Given the description of an element on the screen output the (x, y) to click on. 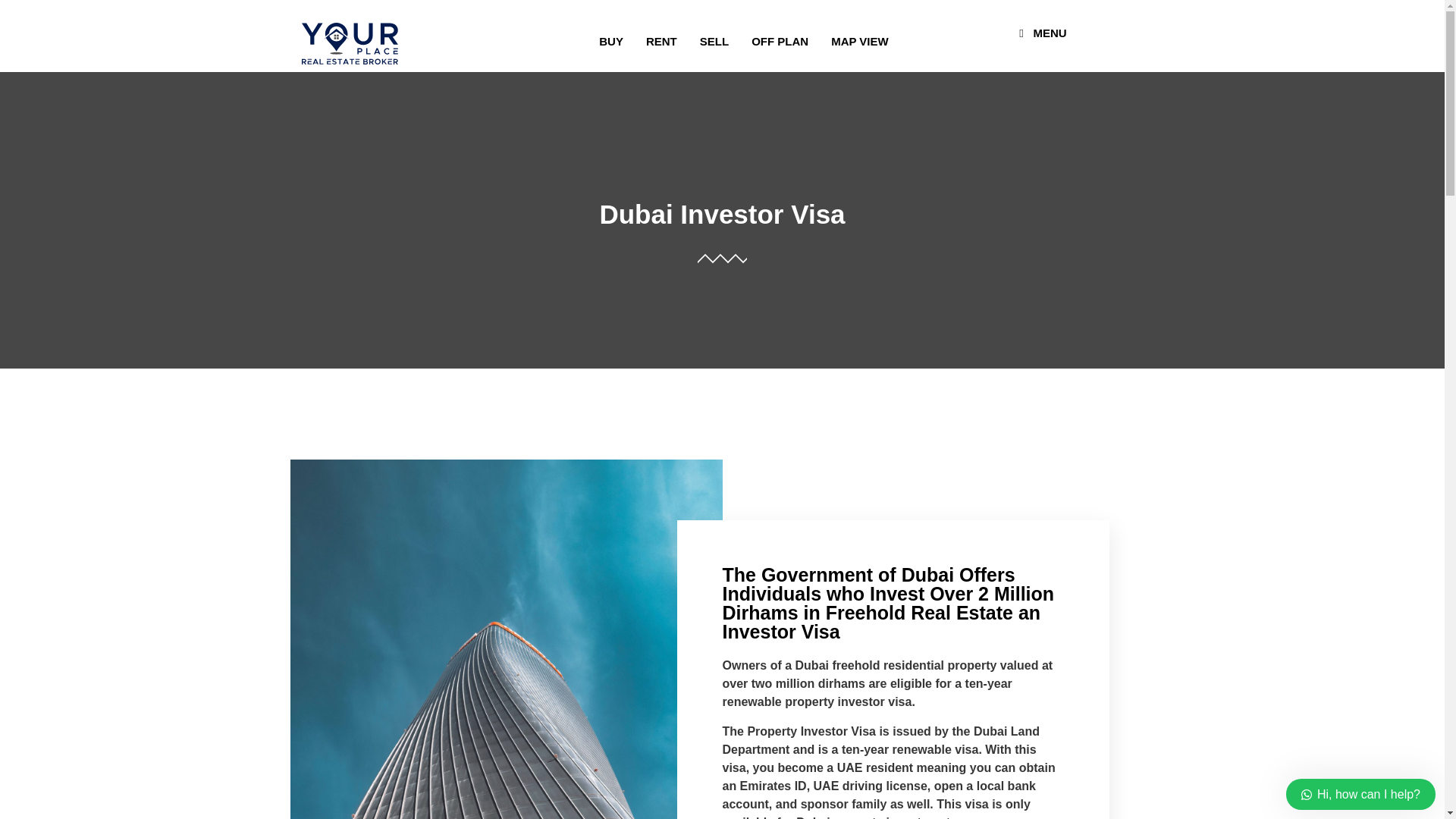
RENT (661, 41)
MENU (1040, 33)
MAP VIEW (859, 41)
SELL (713, 41)
BUY (611, 41)
OFF PLAN (779, 41)
